Given the description of an element on the screen output the (x, y) to click on. 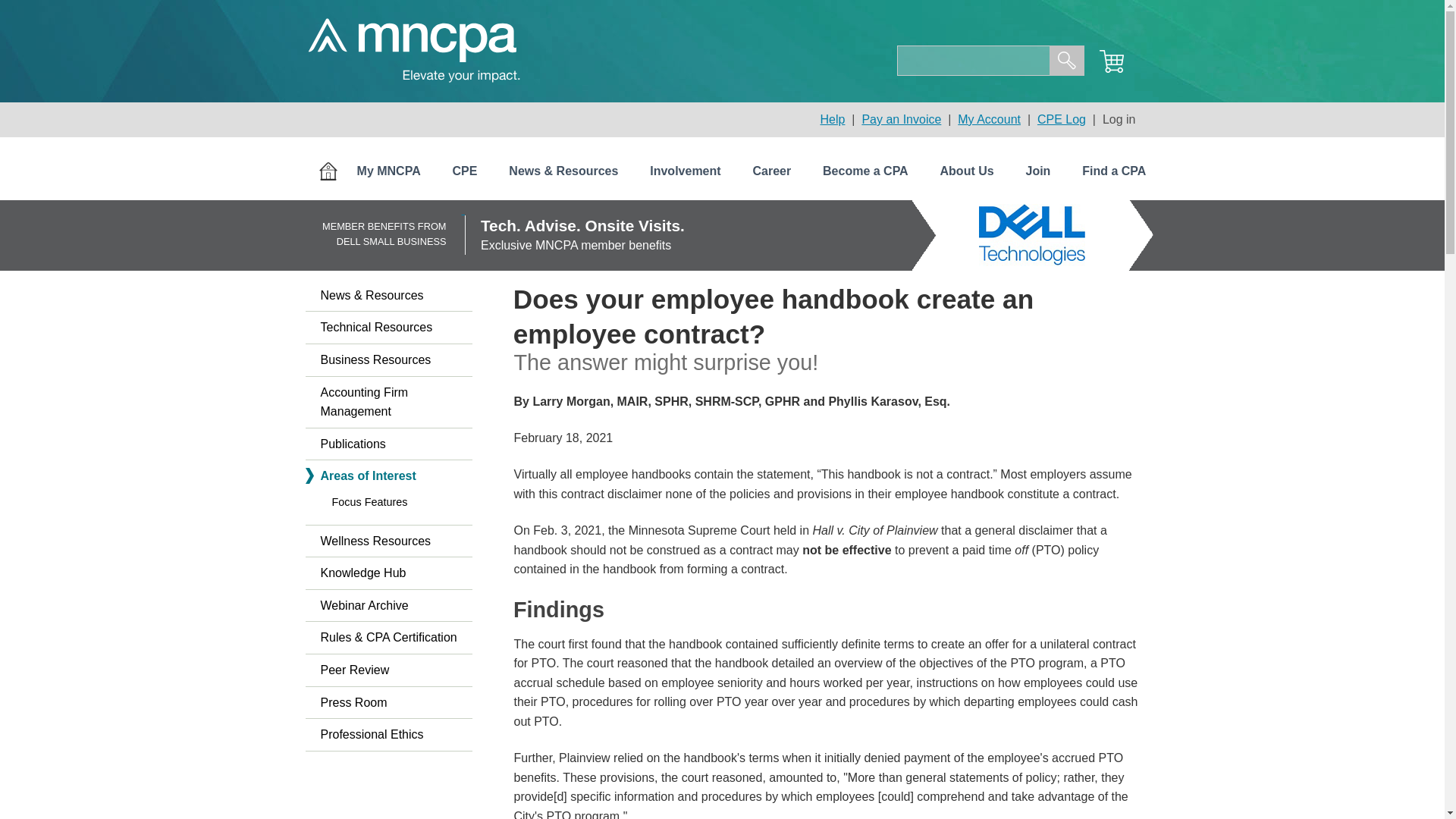
Search (1066, 60)
Pay an Invoice (900, 119)
Search (1066, 60)
CPE Log (1061, 119)
My Account (989, 119)
Help (833, 119)
Log in (1118, 119)
Search (1066, 60)
